Given the description of an element on the screen output the (x, y) to click on. 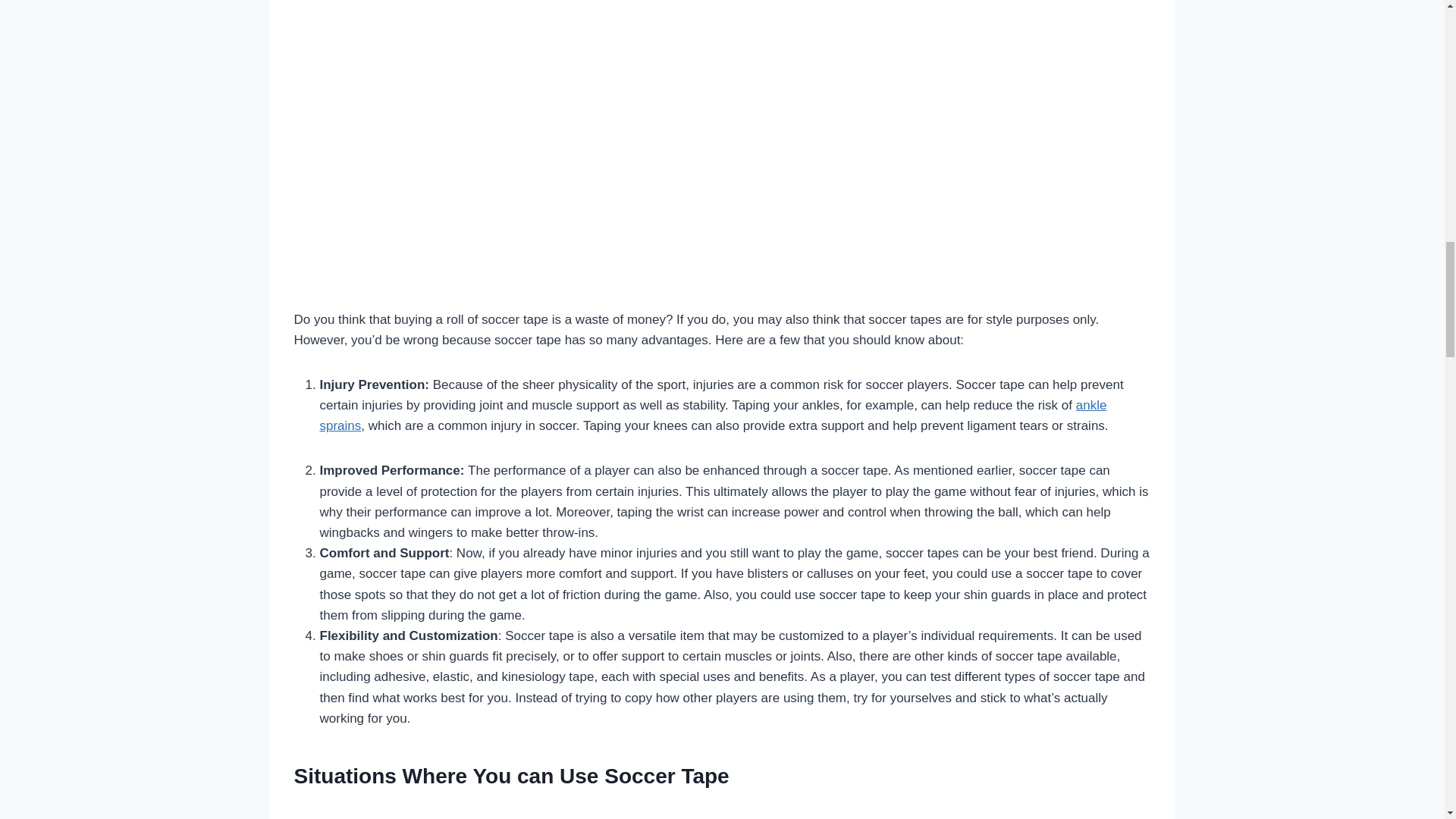
ankle sprains (713, 415)
